Given the description of an element on the screen output the (x, y) to click on. 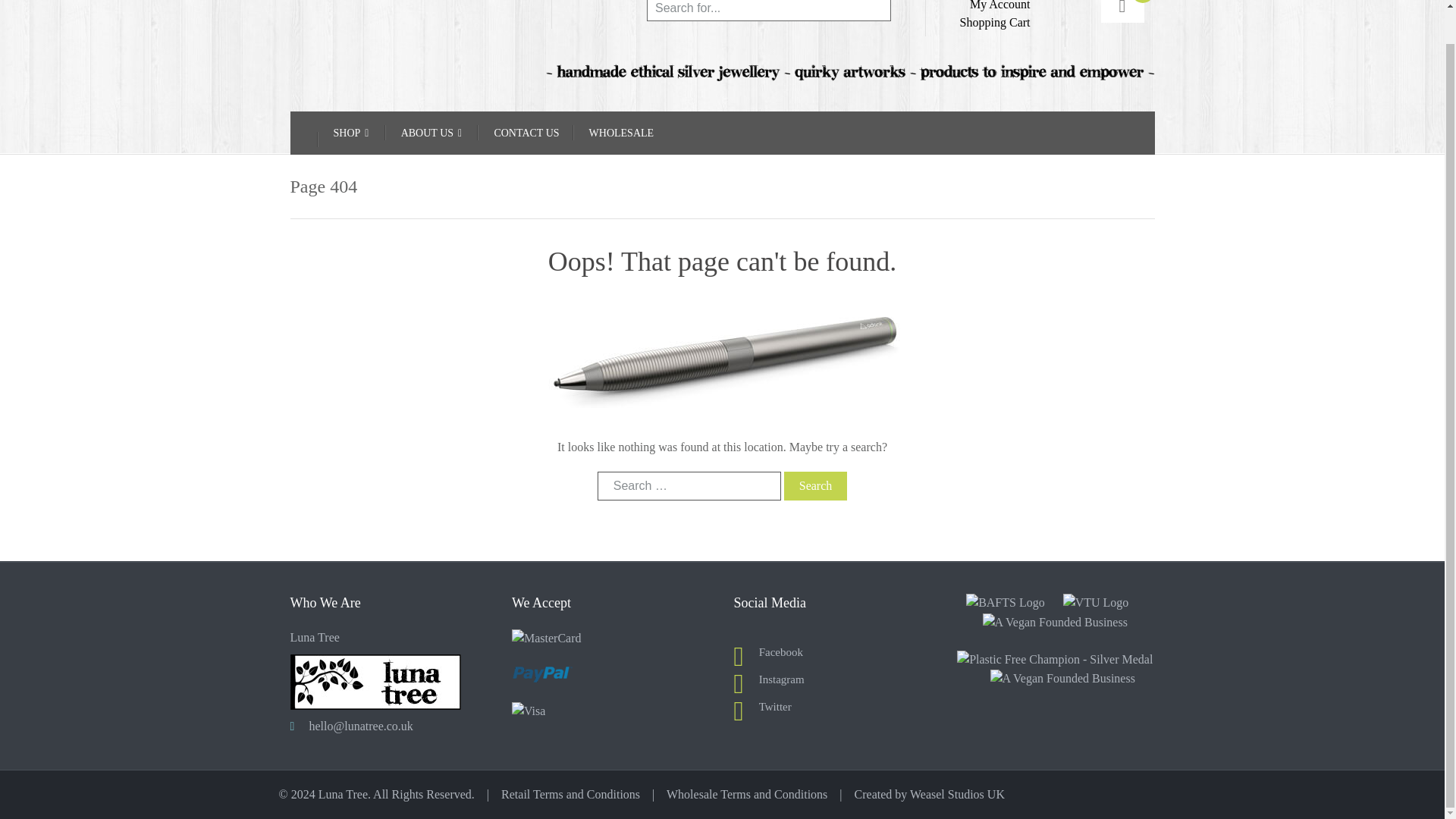
ABOUT US (431, 133)
Oops! That page can't be found. (721, 362)
SHOP (351, 133)
My Account (999, 5)
Luna Tree (389, 6)
Email us (360, 725)
Search (875, 10)
Search (815, 485)
Search (815, 485)
